Given the description of an element on the screen output the (x, y) to click on. 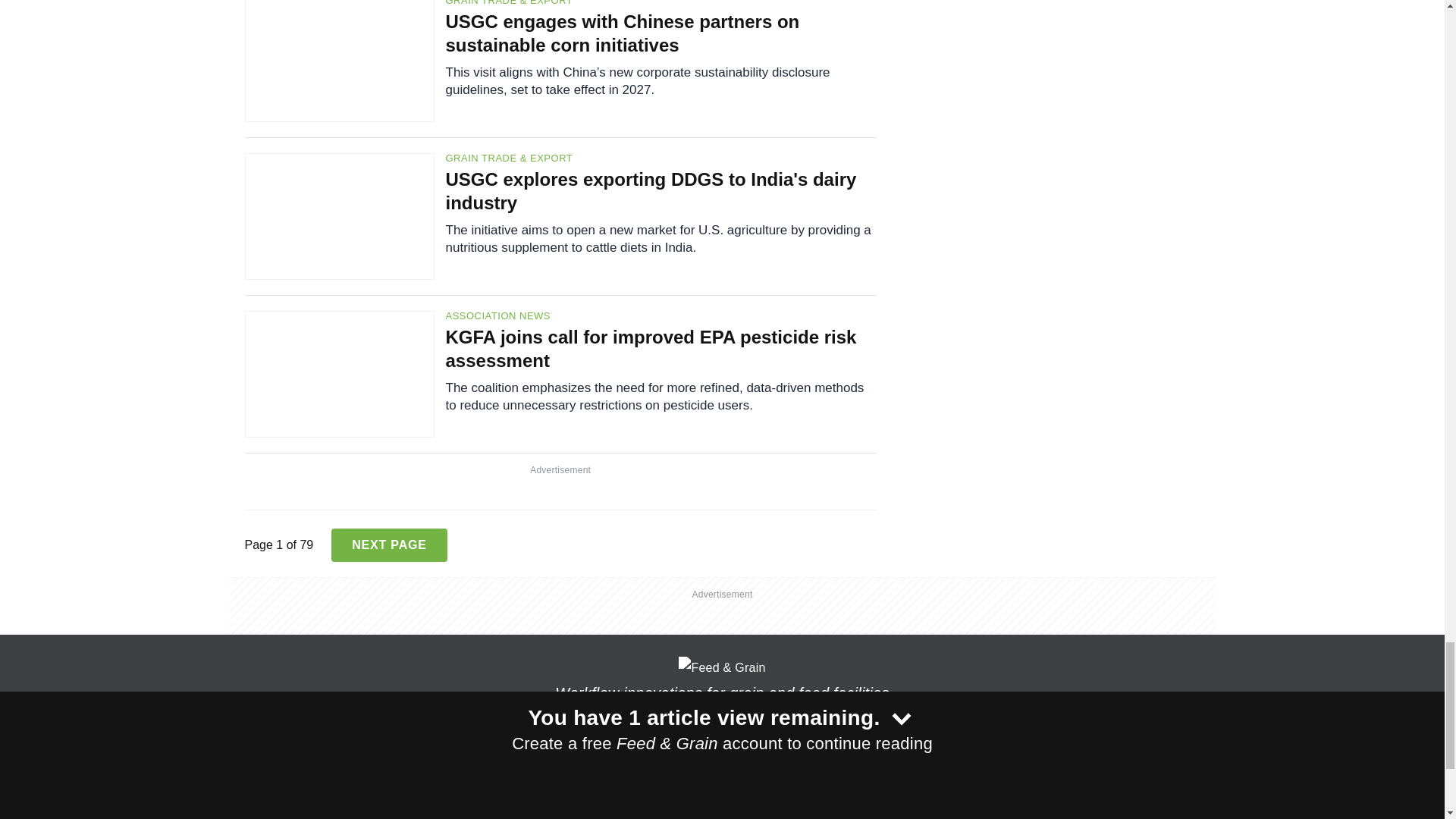
Facebook icon (575, 769)
LinkedIn icon (615, 769)
YouTube icon (655, 769)
